Given the description of an element on the screen output the (x, y) to click on. 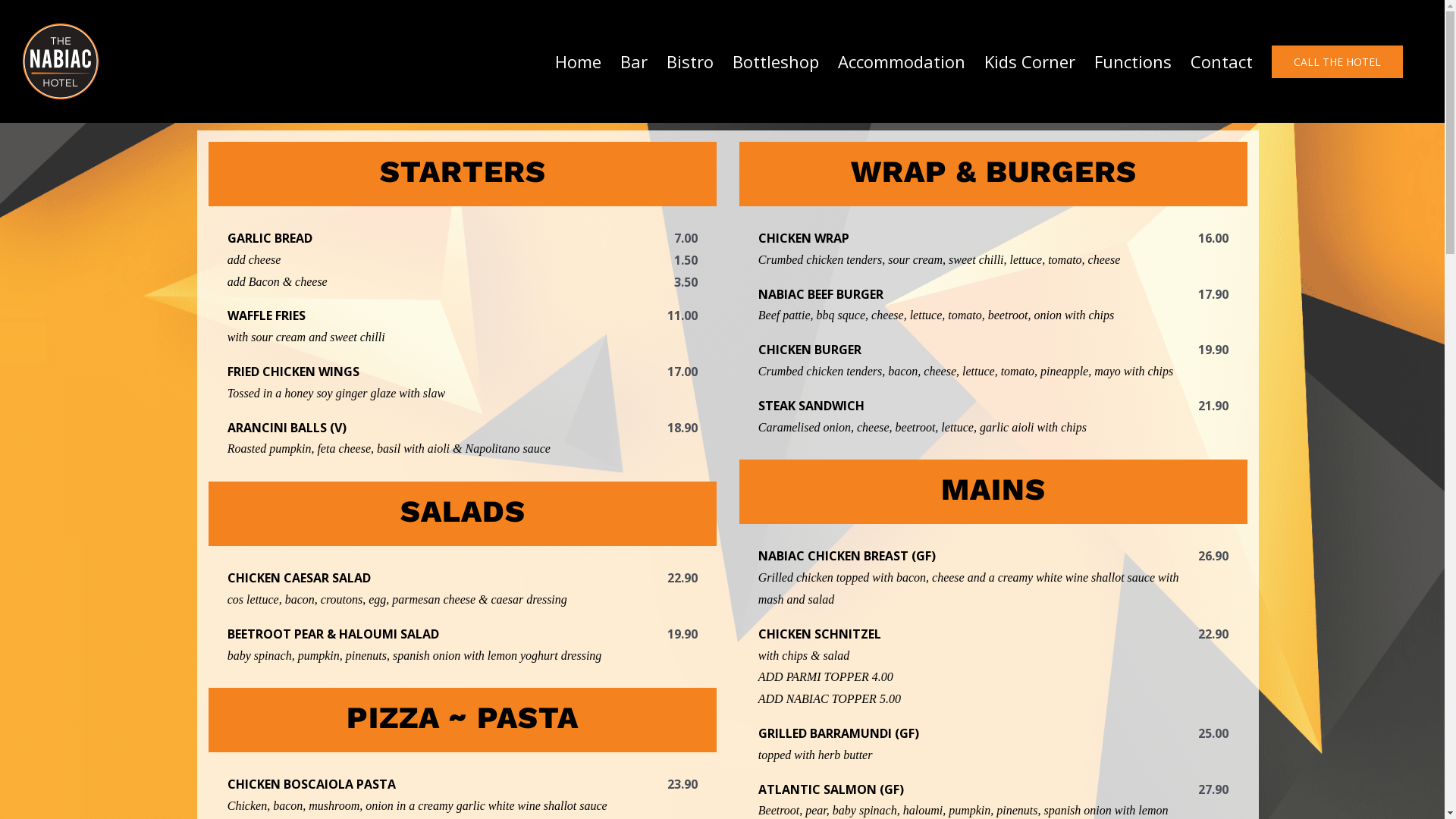
Functions Element type: text (1132, 61)
Bistro Element type: text (689, 61)
Bottleshop Element type: text (775, 61)
Kids Corner Element type: text (1029, 61)
Accommodation Element type: text (901, 61)
Bar Element type: text (633, 61)
Contact Element type: text (1221, 61)
Home Element type: text (578, 61)
CALL THE HOTEL Element type: text (1336, 61)
